Given the description of an element on the screen output the (x, y) to click on. 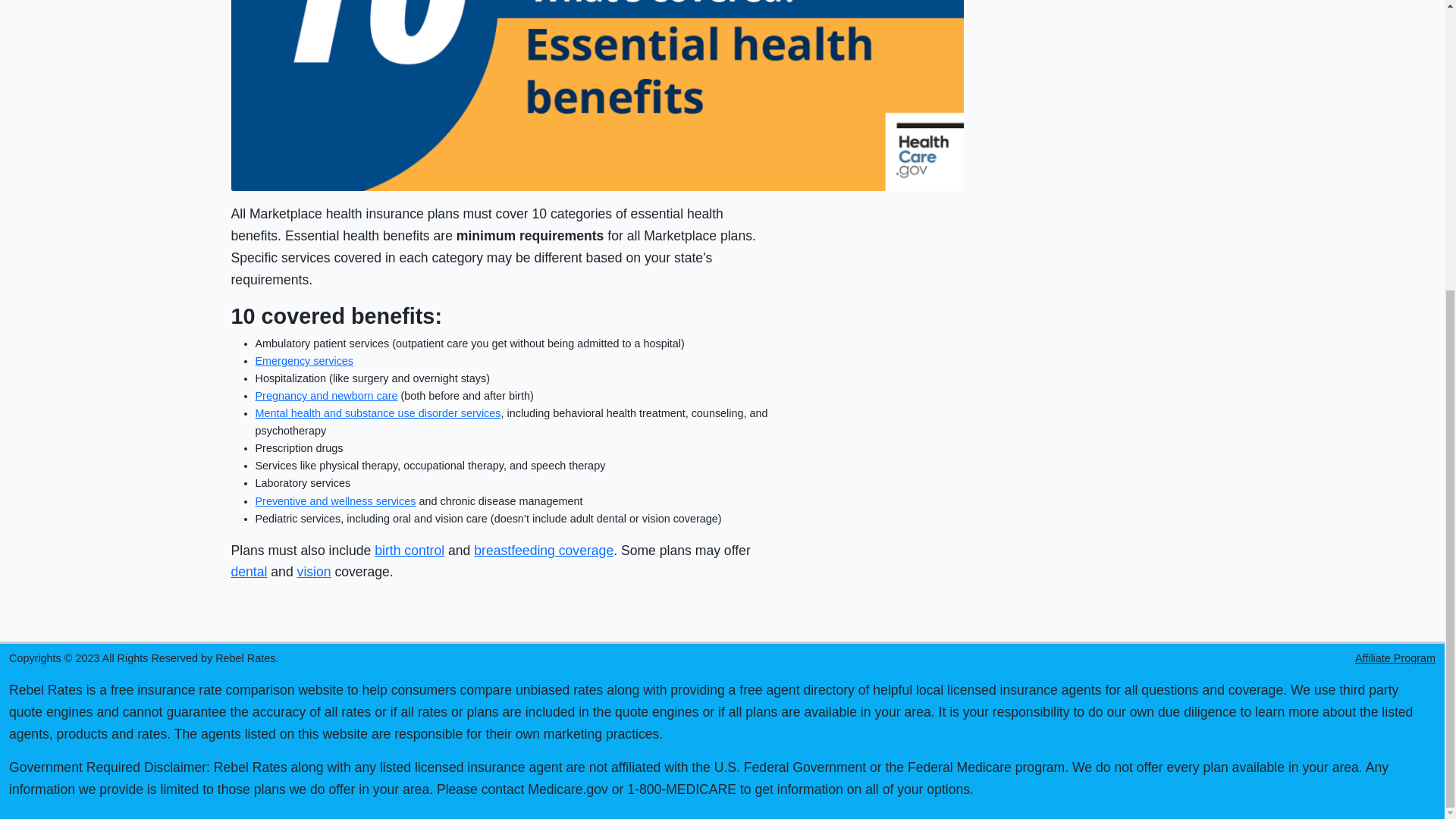
Getting emergency care (303, 360)
Dental coverage in the Marketplace (248, 571)
Mental health and substance use disorder services (377, 413)
Affiliate Program (1395, 657)
Breastfeeding benefits (543, 549)
Preventive health services (334, 500)
Pregnancy and newborn care (325, 395)
birth control (409, 549)
breastfeeding coverage (543, 549)
Emergency services (303, 360)
dental (248, 571)
vision (314, 571)
Vision coverage (314, 571)
Preventive and wellness services (334, 500)
